Given the description of an element on the screen output the (x, y) to click on. 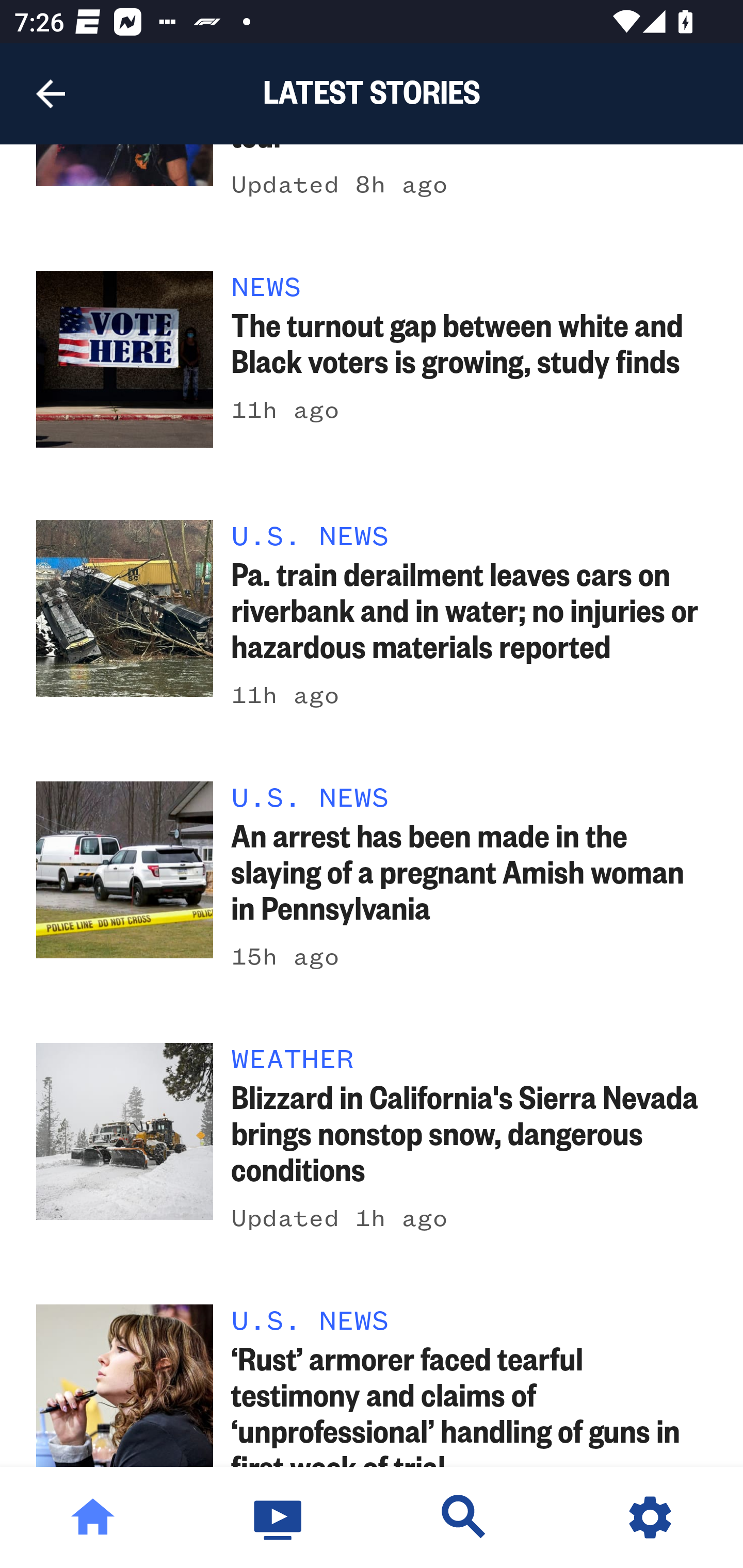
Navigate up (50, 93)
Watch (278, 1517)
Discover (464, 1517)
Settings (650, 1517)
